Given the description of an element on the screen output the (x, y) to click on. 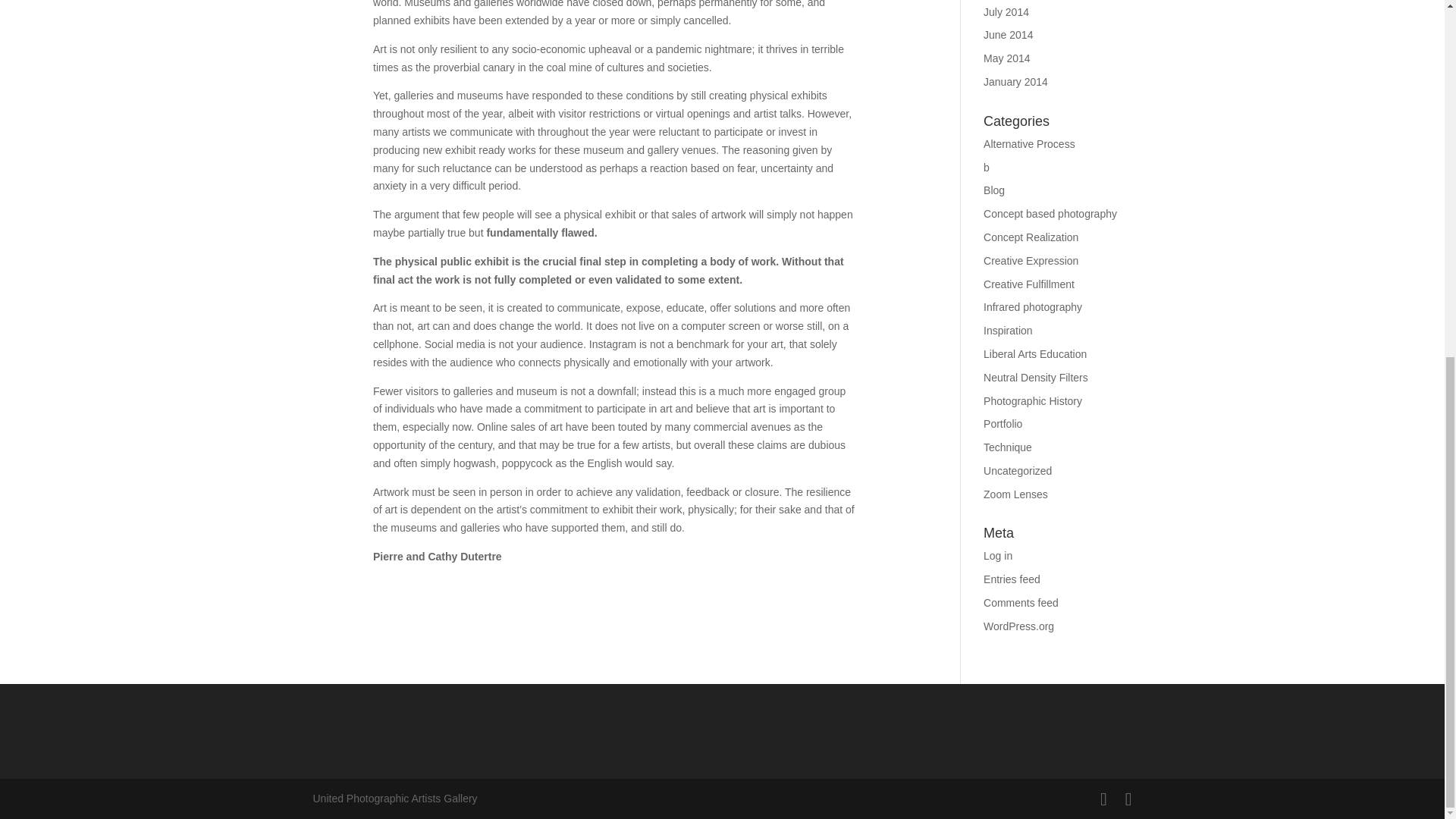
Creative Fulfillment (1029, 284)
Alternative Process (1029, 143)
June 2014 (1008, 34)
Liberal Arts Education (1035, 354)
Blog (994, 190)
January 2014 (1016, 81)
Neutral Density Filters (1035, 377)
Infrared photography (1032, 306)
Portfolio (1003, 423)
Concept Realization (1031, 236)
